Given the description of an element on the screen output the (x, y) to click on. 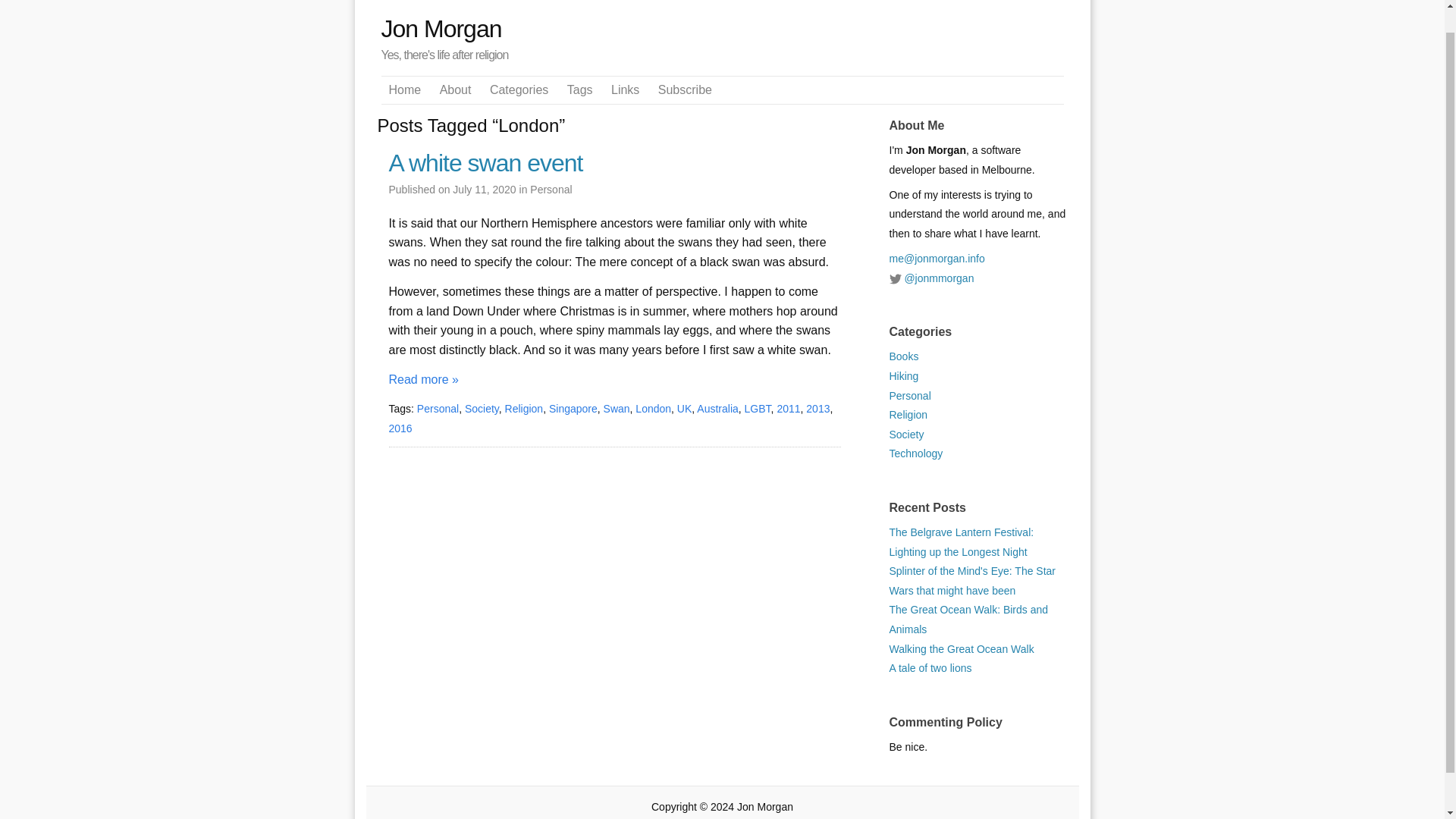
Technology (915, 453)
Australia (717, 408)
The Great Ocean Walk: Birds and Animals (968, 619)
The Belgrave Lantern Festival: Lighting up the Longest Night (960, 541)
2011 (787, 408)
Subscribe (684, 89)
LGBT (757, 408)
Singapore (572, 408)
2016 (400, 428)
2013 (817, 408)
London (652, 408)
Links (625, 89)
Religion (907, 414)
Tags (579, 89)
Personal (437, 408)
